Given the description of an element on the screen output the (x, y) to click on. 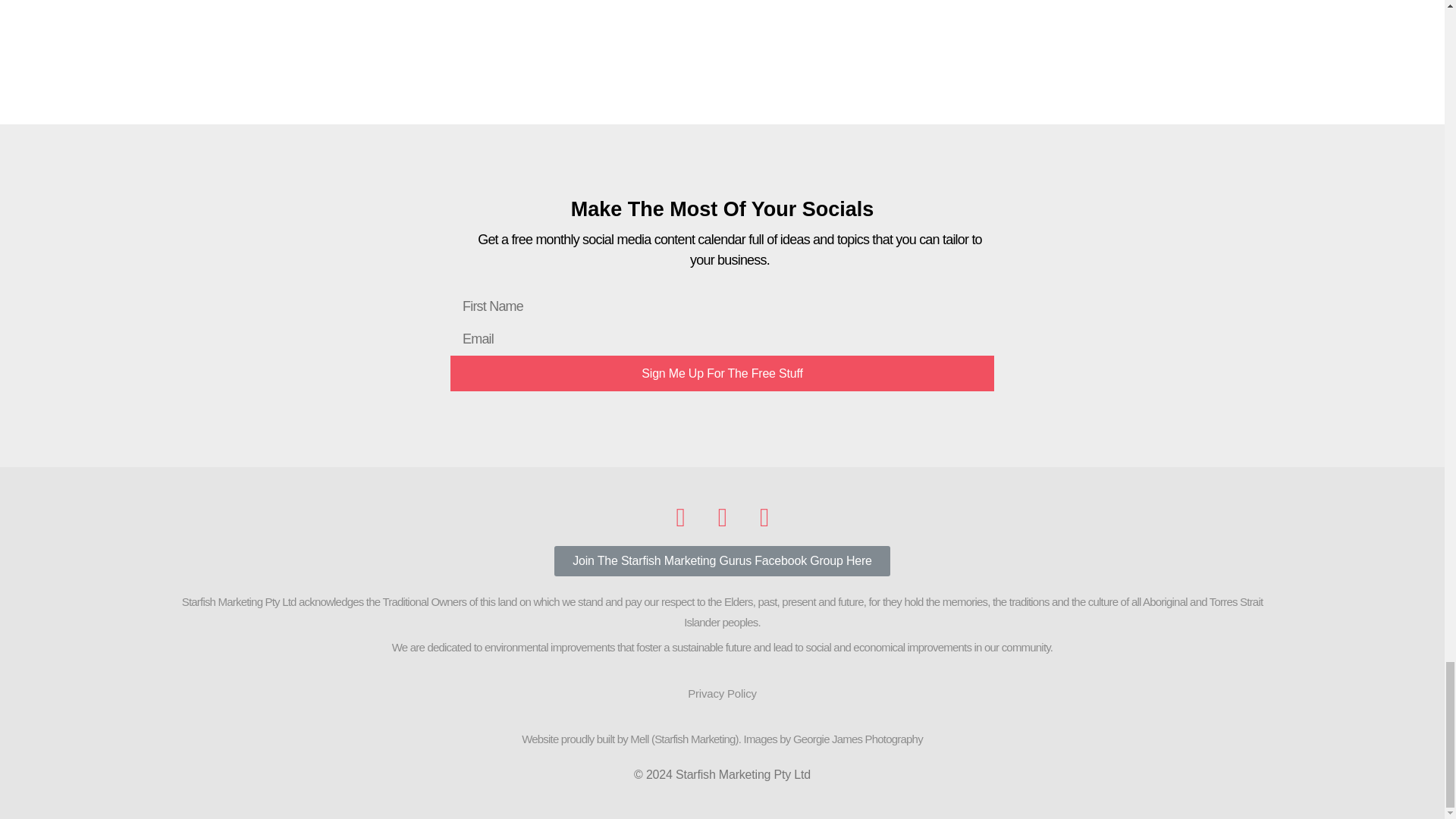
Join The Starfish Marketing Gurus Facebook Group Here (721, 561)
Privacy Policy (722, 692)
Sign Me Up For The Free Stuff (721, 373)
